Given the description of an element on the screen output the (x, y) to click on. 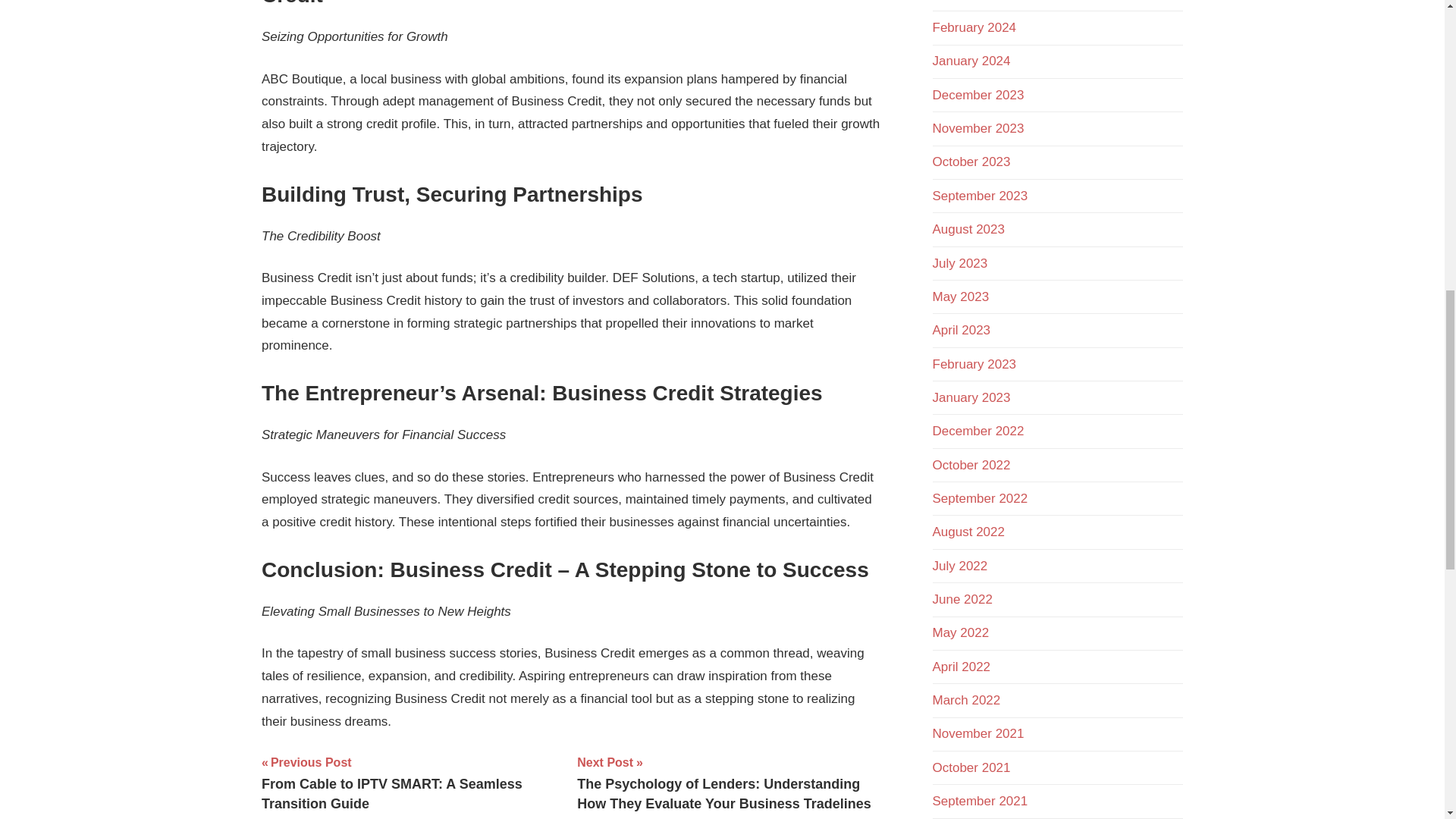
February 2023 (974, 364)
March 2022 (967, 699)
April 2022 (962, 667)
February 2024 (974, 27)
May 2022 (961, 632)
January 2023 (971, 397)
April 2023 (962, 329)
December 2023 (979, 94)
August 2023 (968, 228)
March 2024 (967, 0)
November 2023 (979, 128)
July 2023 (960, 263)
June 2022 (962, 599)
September 2023 (980, 196)
